Given the description of an element on the screen output the (x, y) to click on. 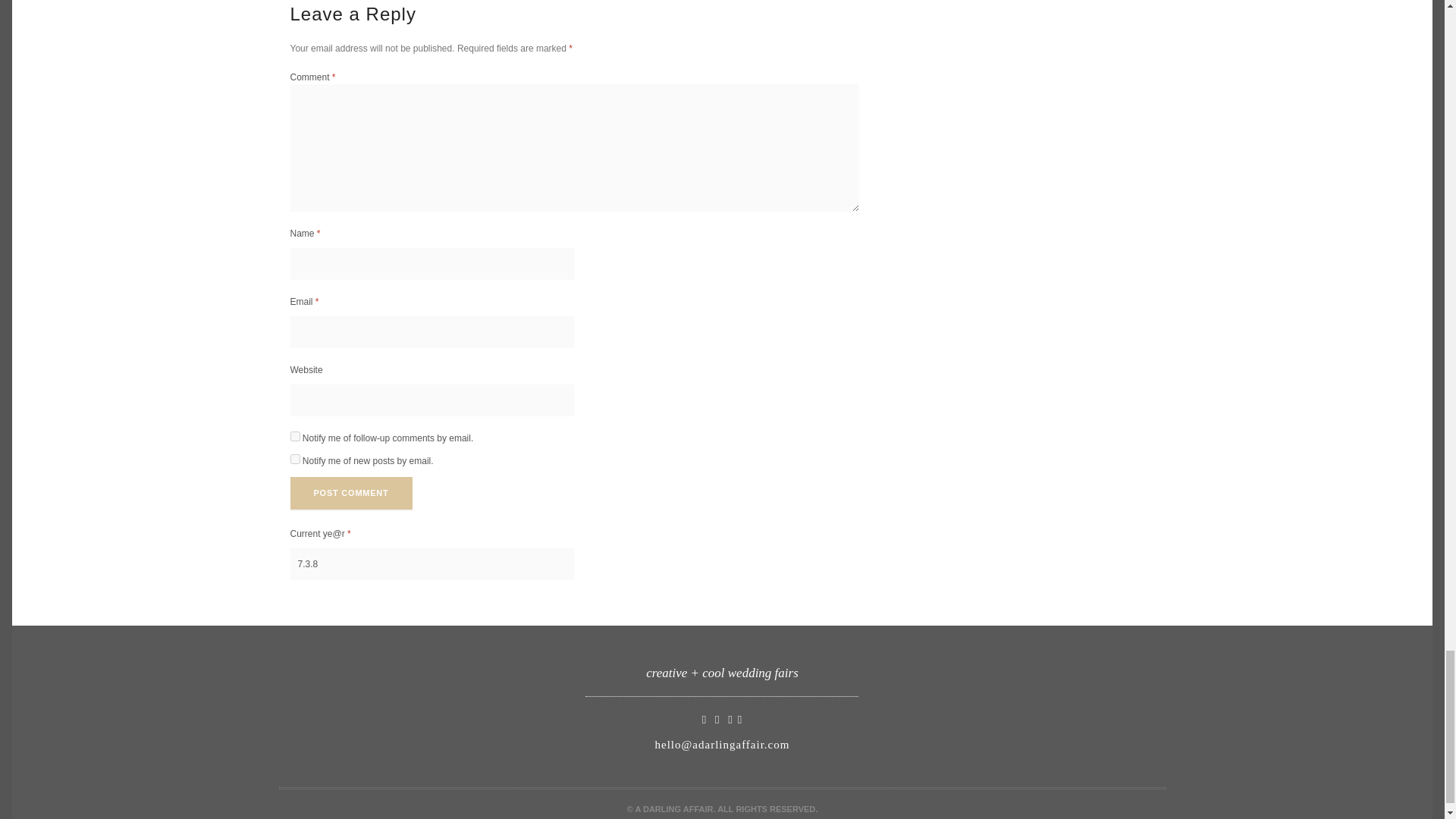
Post Comment (350, 492)
Post Comment (350, 492)
subscribe (294, 459)
subscribe (294, 436)
7.3.8 (431, 563)
